Given the description of an element on the screen output the (x, y) to click on. 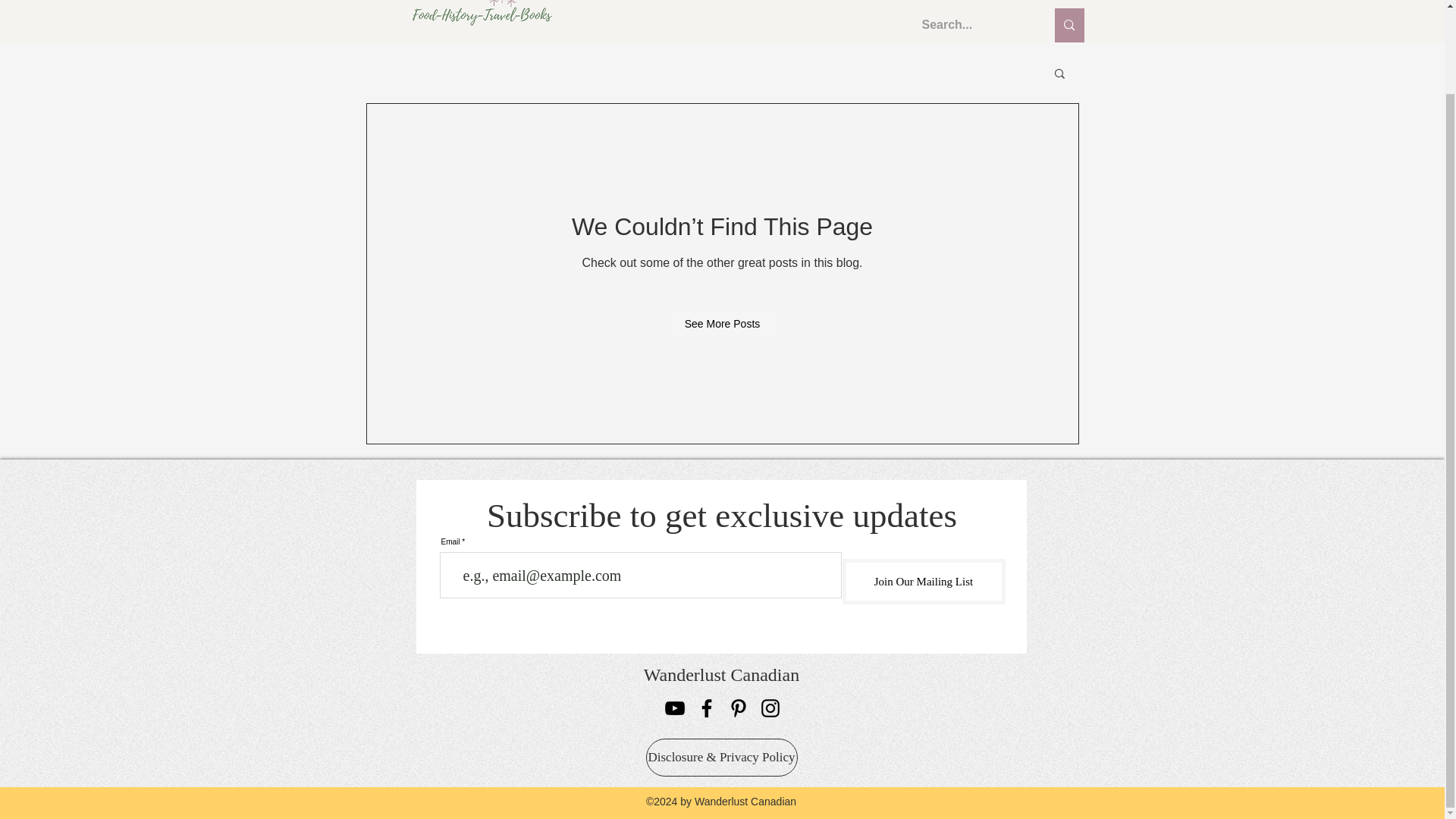
Log In (1039, 1)
See More Posts (722, 323)
Join Our Mailing List (922, 581)
